Given the description of an element on the screen output the (x, y) to click on. 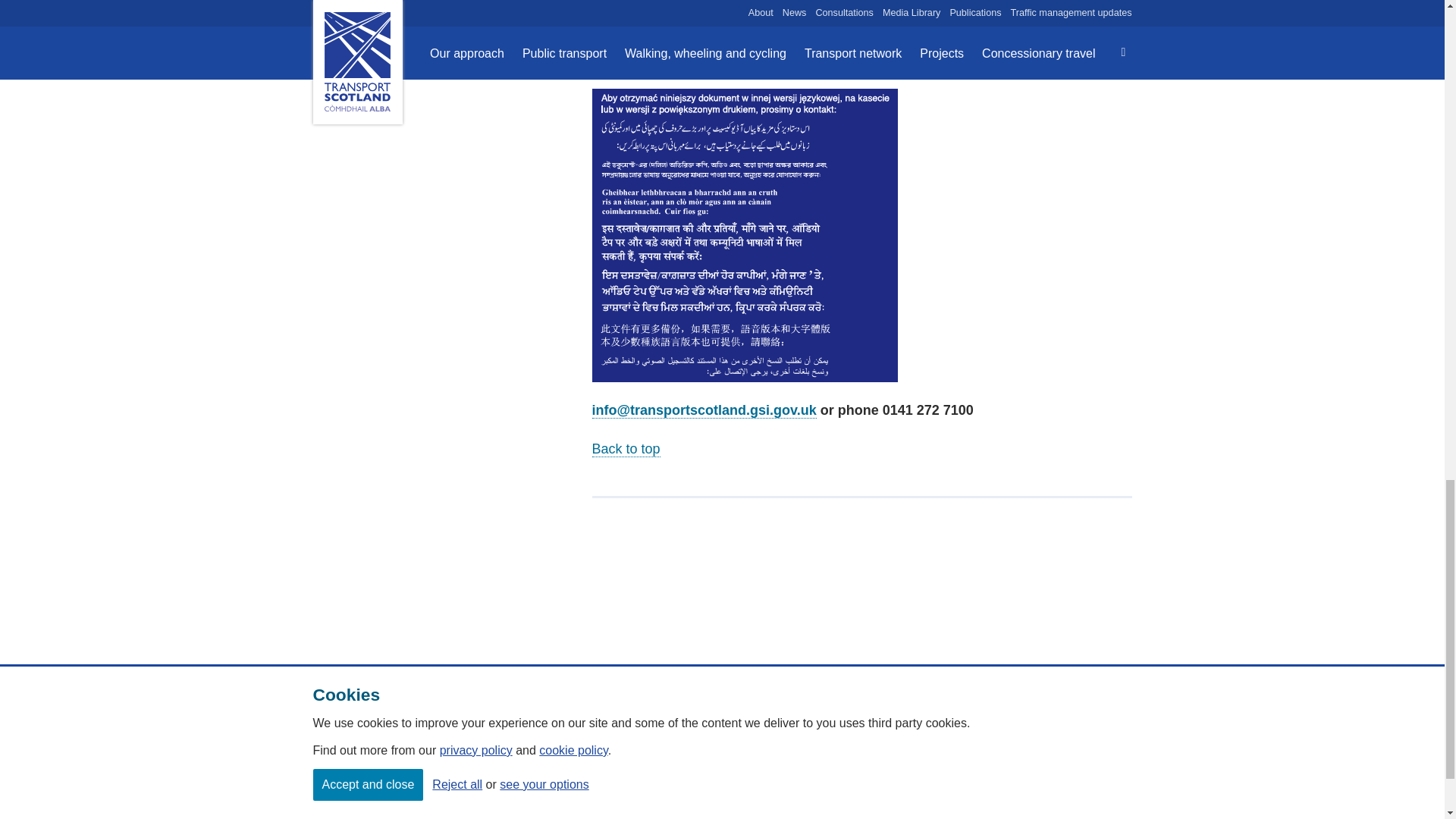
linkedin (1120, 744)
facebook (1053, 744)
youtube (1086, 744)
instagram (952, 744)
flickr (986, 744)
twitter (1019, 744)
